Given the description of an element on the screen output the (x, y) to click on. 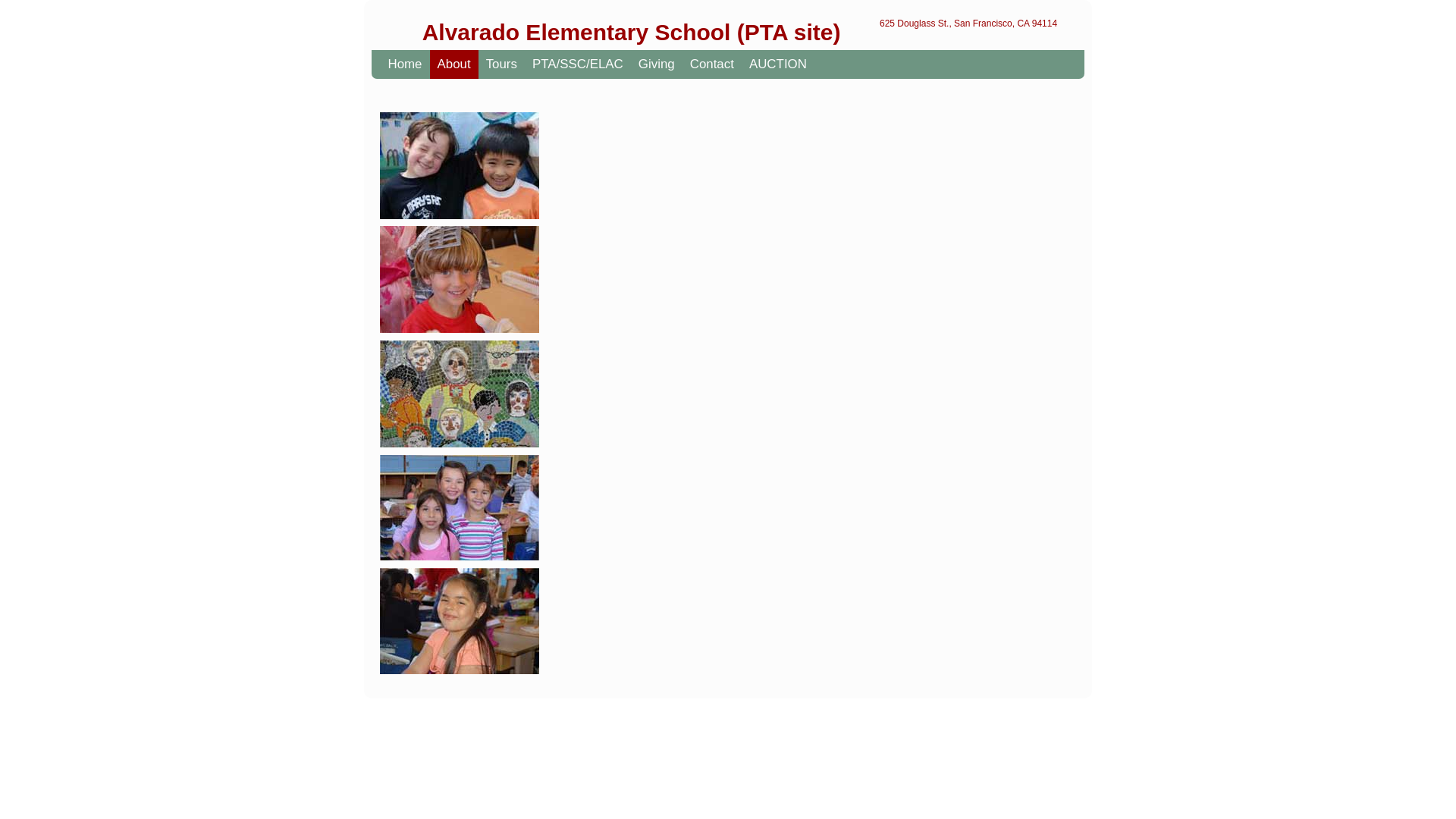
Home (404, 63)
Contact (711, 63)
Giving (656, 63)
Skip to primary content (461, 63)
About (453, 63)
AUCTION (777, 63)
Tours (501, 63)
About (453, 63)
Skip to secondary content (469, 63)
